Given the description of an element on the screen output the (x, y) to click on. 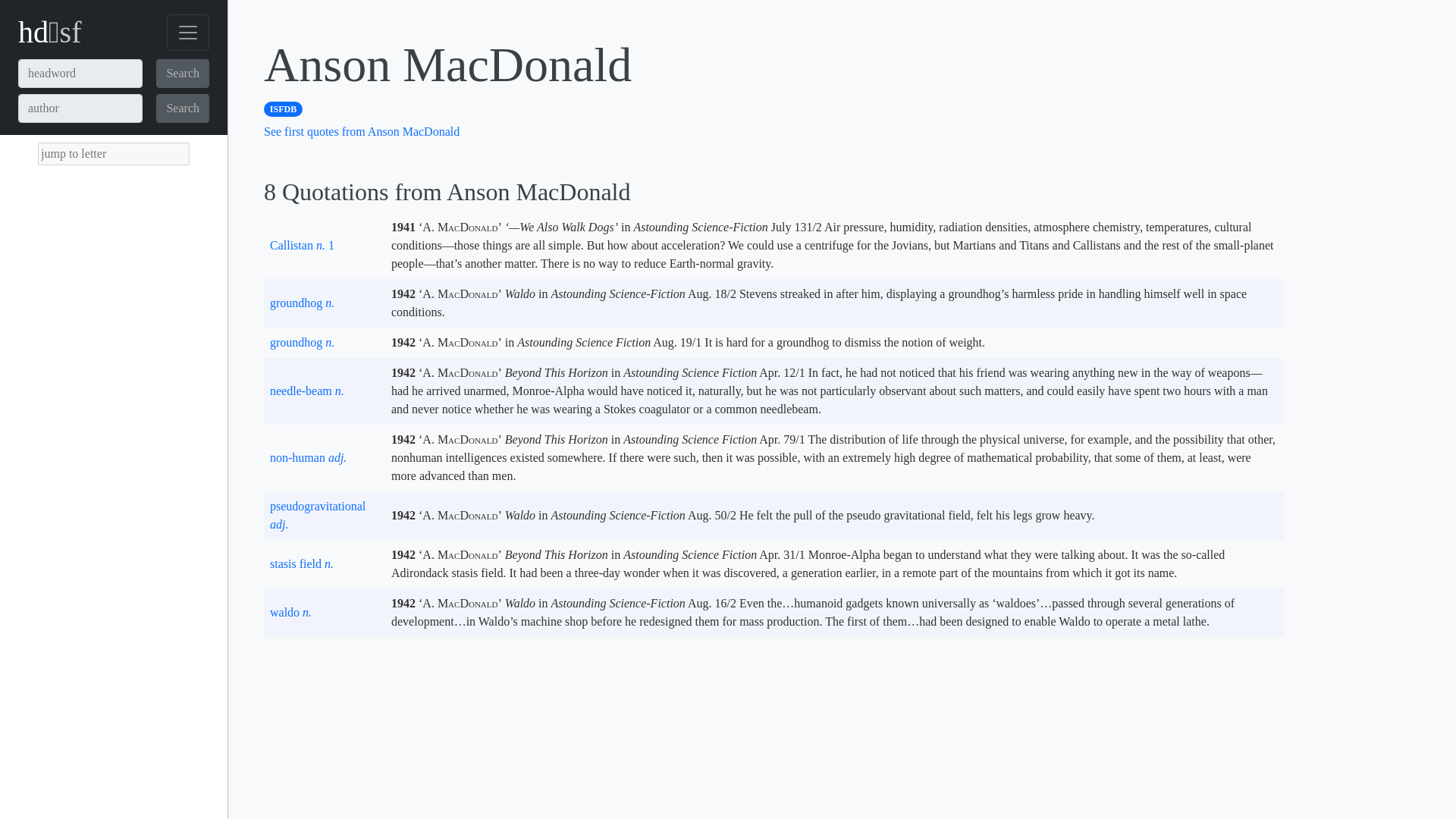
waldo n. (290, 612)
stasis field n. (301, 563)
groundhog n. (301, 341)
groundhog n. (301, 302)
needle-beam n. (306, 390)
See first quotes from Anson MacDonald (361, 131)
Callistan n. 1 (301, 245)
ISFDB (282, 107)
Search (182, 72)
Search (182, 108)
non-human adj. (307, 457)
pseudogravitational adj. (317, 514)
